Given the description of an element on the screen output the (x, y) to click on. 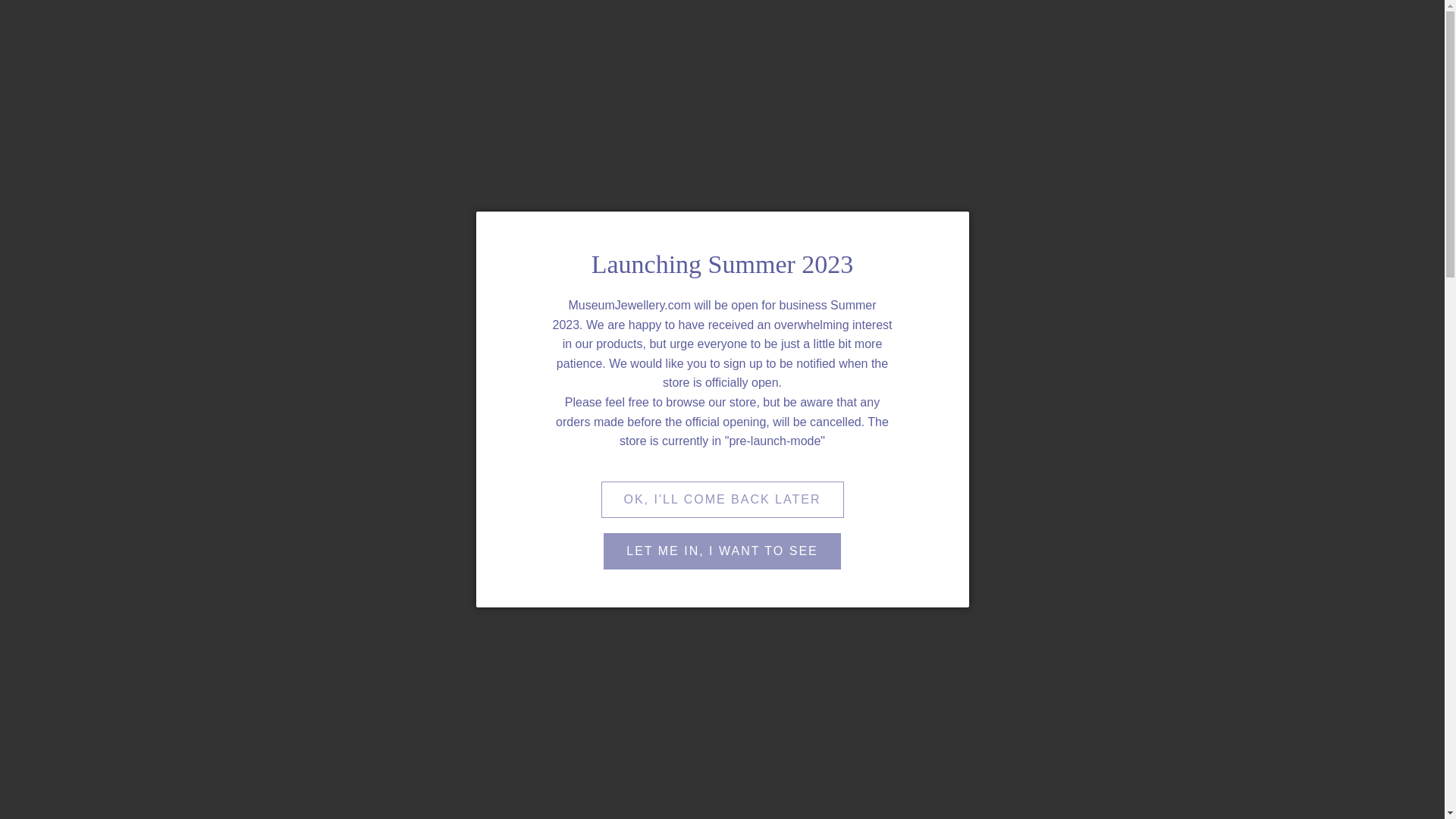
Log in (1375, 32)
Back to the frontpage (128, 154)
Cart (1409, 32)
1 (809, 290)
Search (1341, 33)
